Given the description of an element on the screen output the (x, y) to click on. 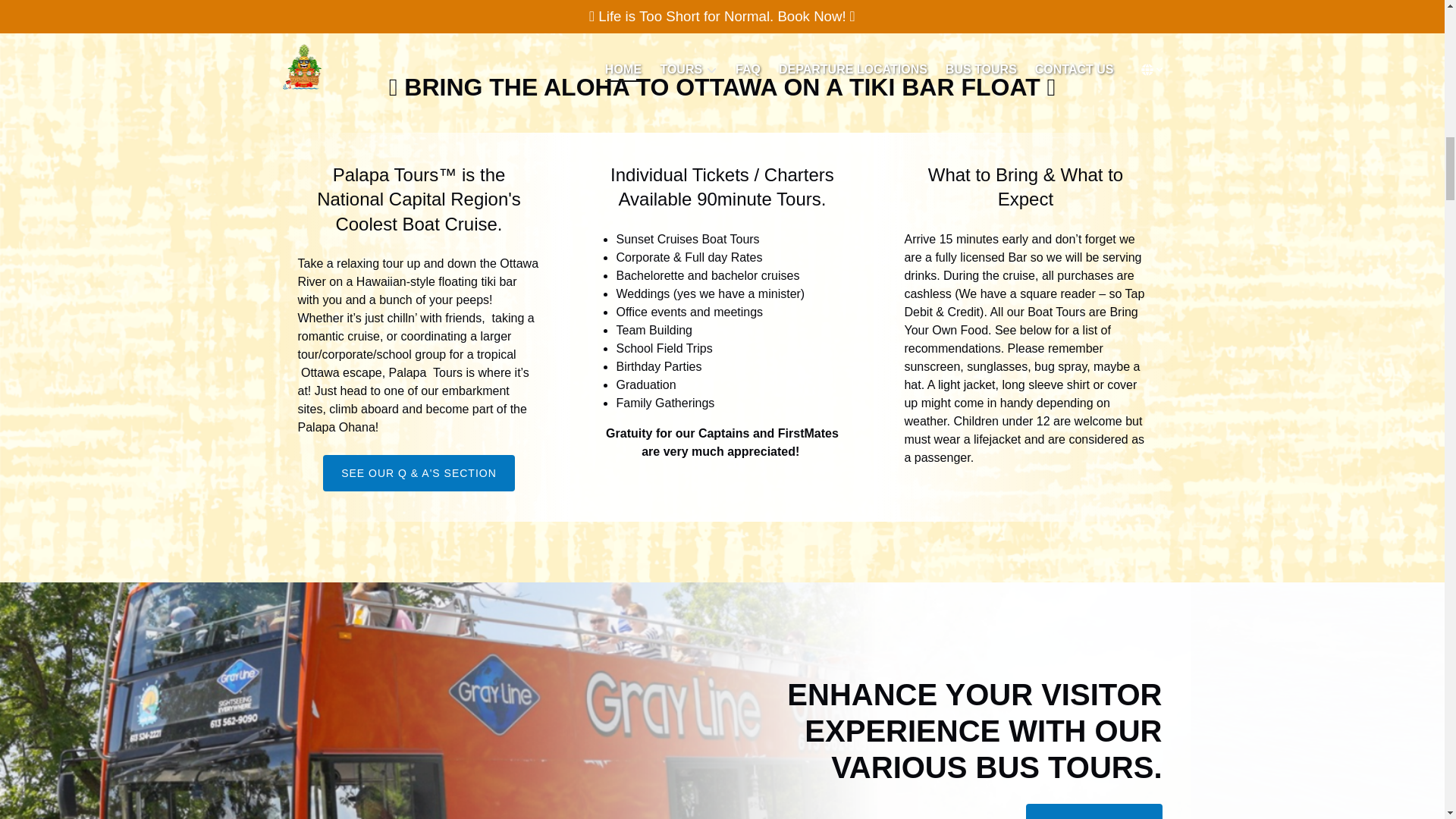
LEARN MORE (1093, 812)
